Given the description of an element on the screen output the (x, y) to click on. 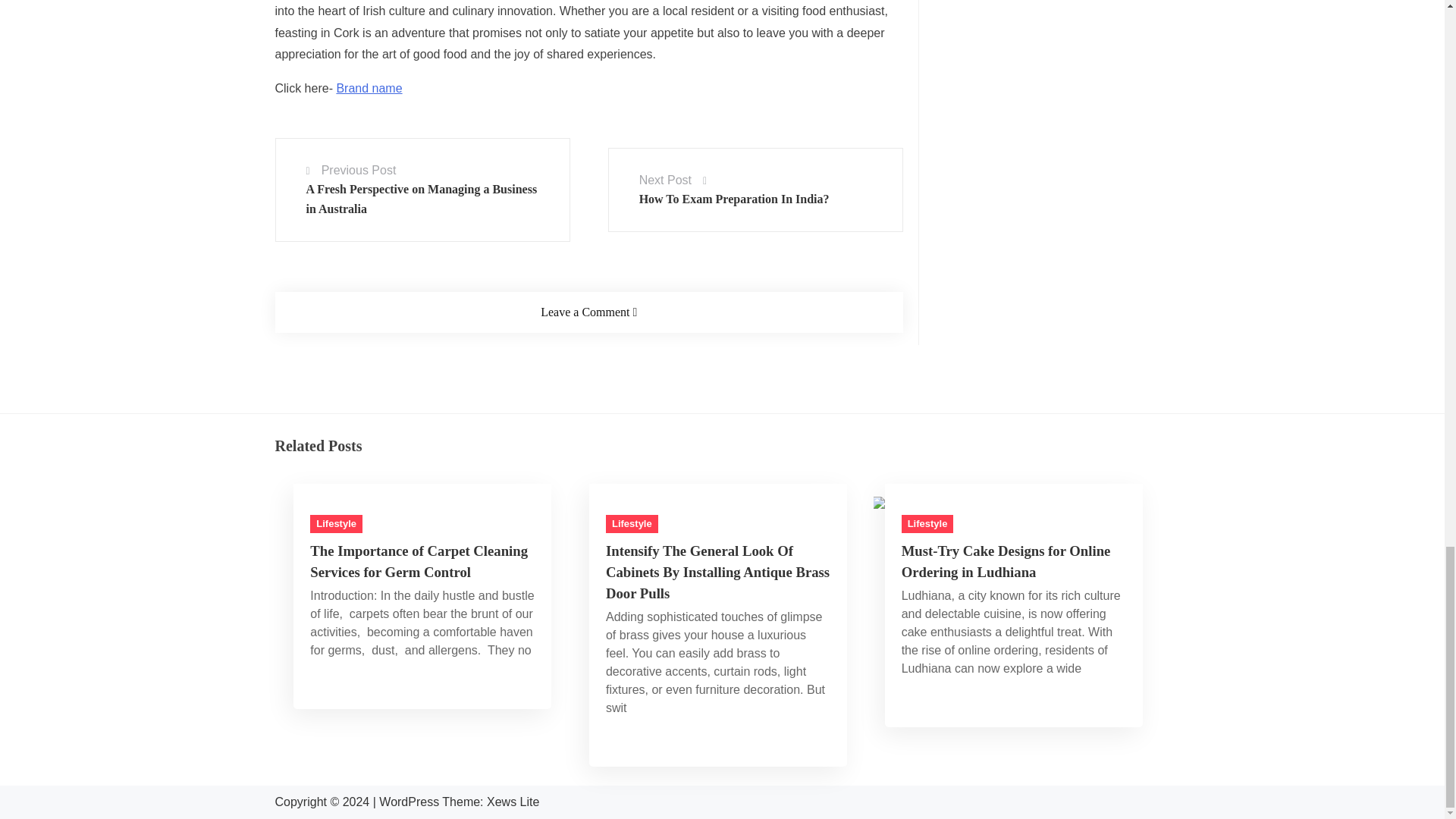
Must-Try Cake Designs for Online Ordering in Ludhiana (951, 502)
Next Post (665, 179)
A Fresh Perspective on Managing a Business in Australia (421, 198)
Previous Post (358, 169)
How To Exam Preparation In India? (734, 198)
Brand name (368, 88)
